Given the description of an element on the screen output the (x, y) to click on. 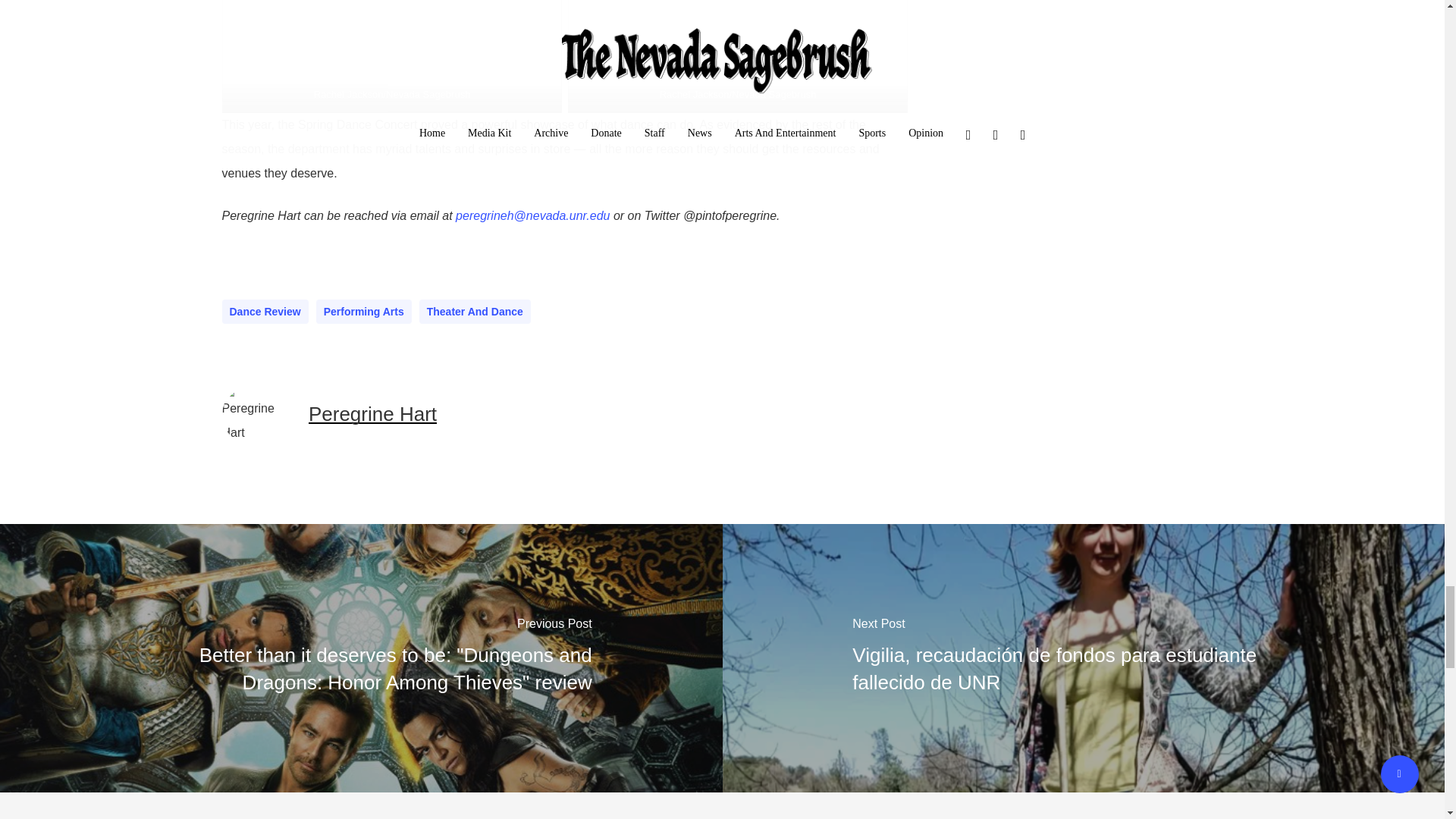
Peregrine Hart (372, 413)
Dance Review (264, 311)
Theater And Dance (475, 311)
Performing Arts (363, 311)
